Given the description of an element on the screen output the (x, y) to click on. 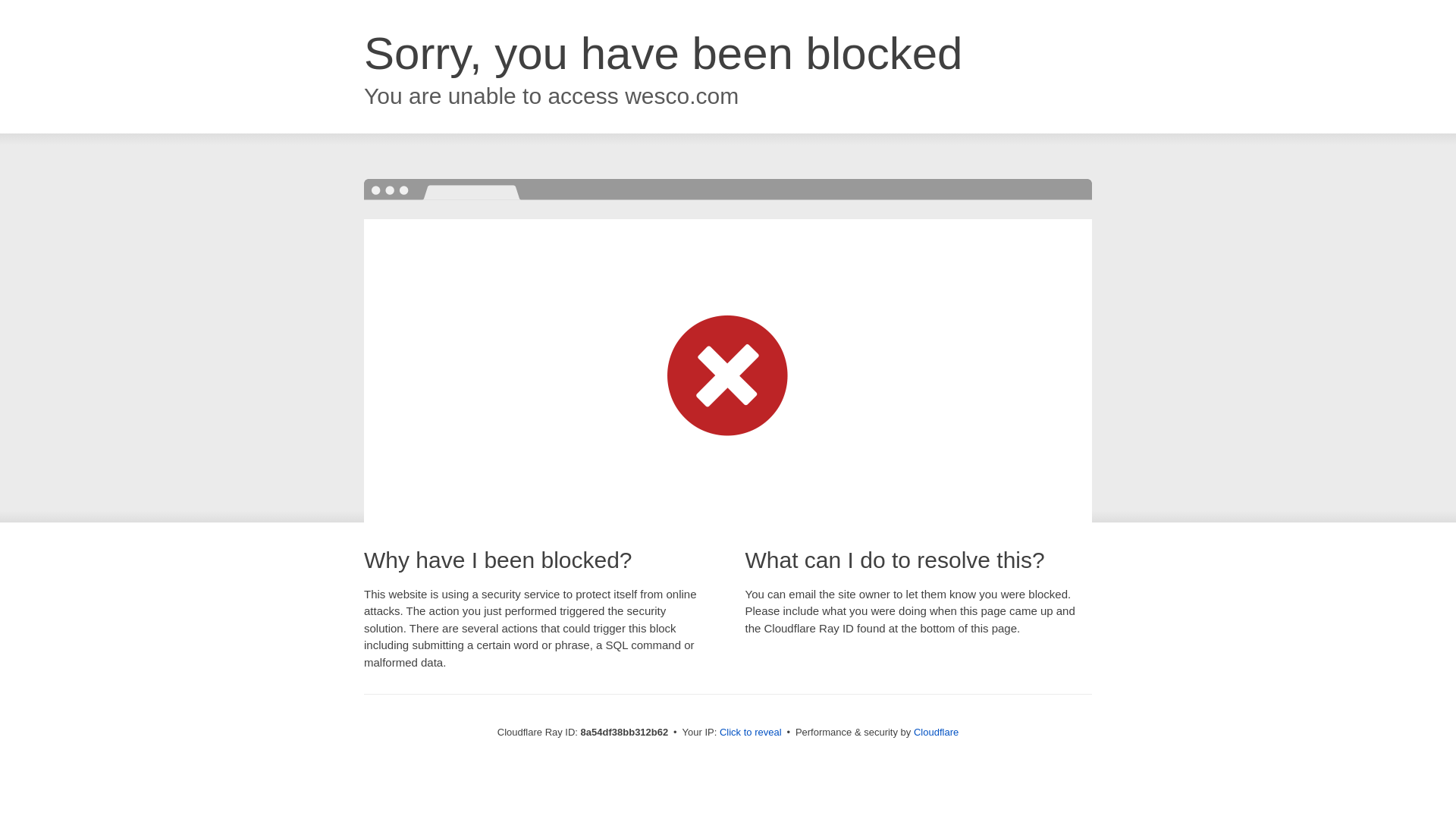
Click to reveal (750, 732)
Cloudflare (936, 731)
